Given the description of an element on the screen output the (x, y) to click on. 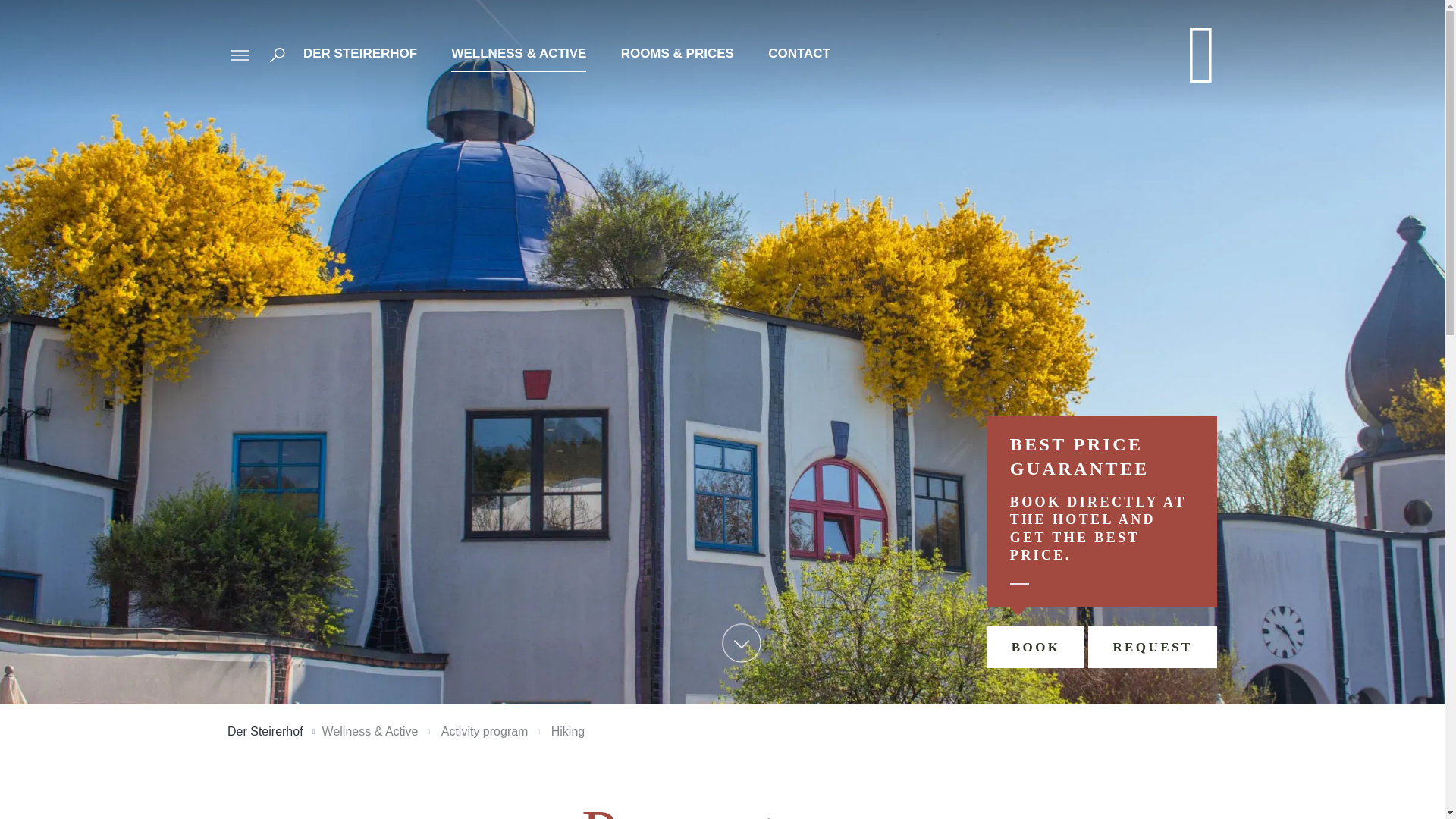
Der Steirerhof (264, 731)
Hiking (568, 731)
Hiking (568, 731)
BOOK (1035, 647)
Activity program (484, 731)
Activity program (484, 731)
Der Steirerhof (264, 731)
REQUEST (1151, 647)
DER STEIRERHOF (360, 53)
